Given the description of an element on the screen output the (x, y) to click on. 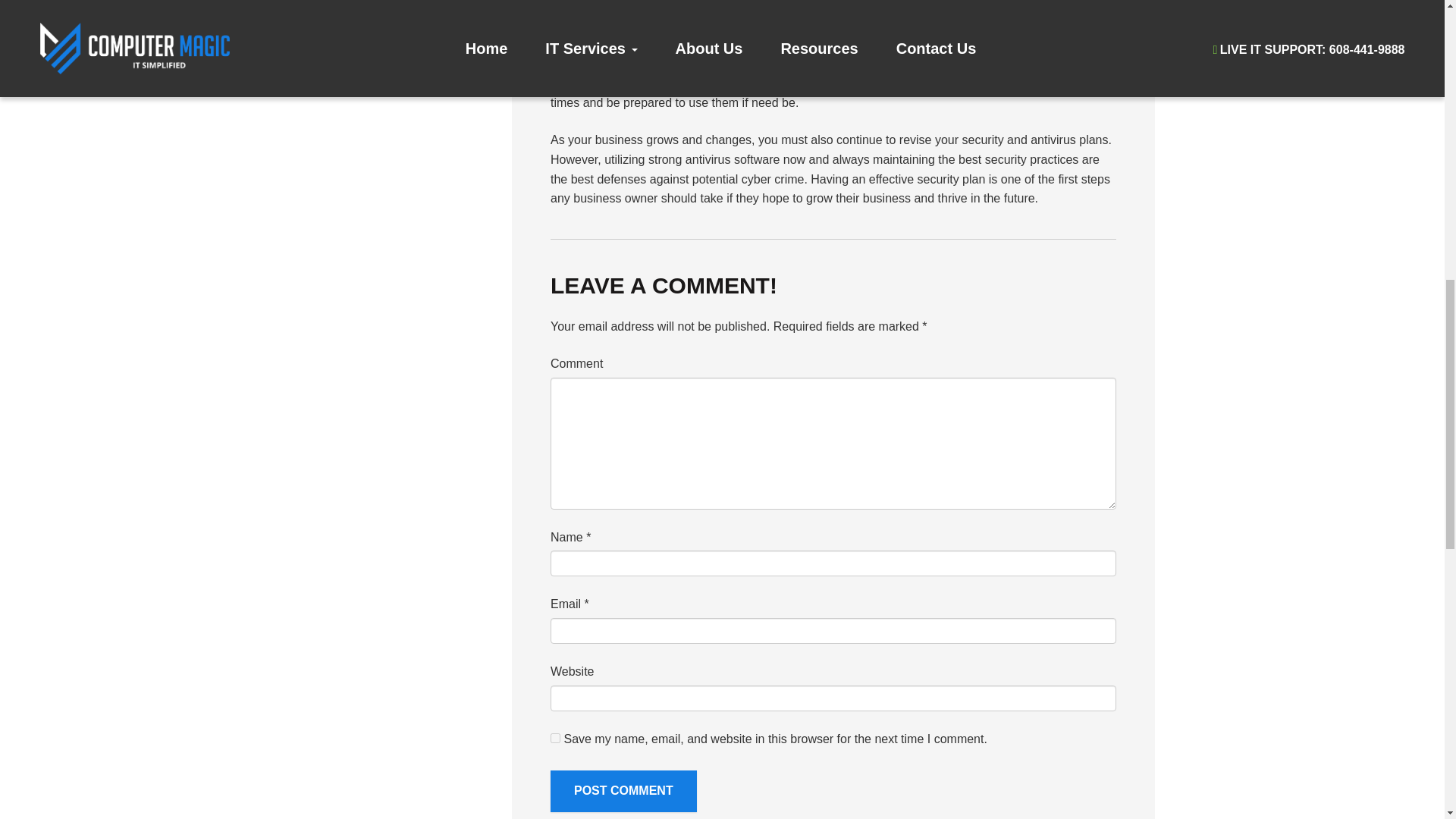
Post Comment (623, 791)
yes (555, 737)
Post Comment (623, 791)
